Given the description of an element on the screen output the (x, y) to click on. 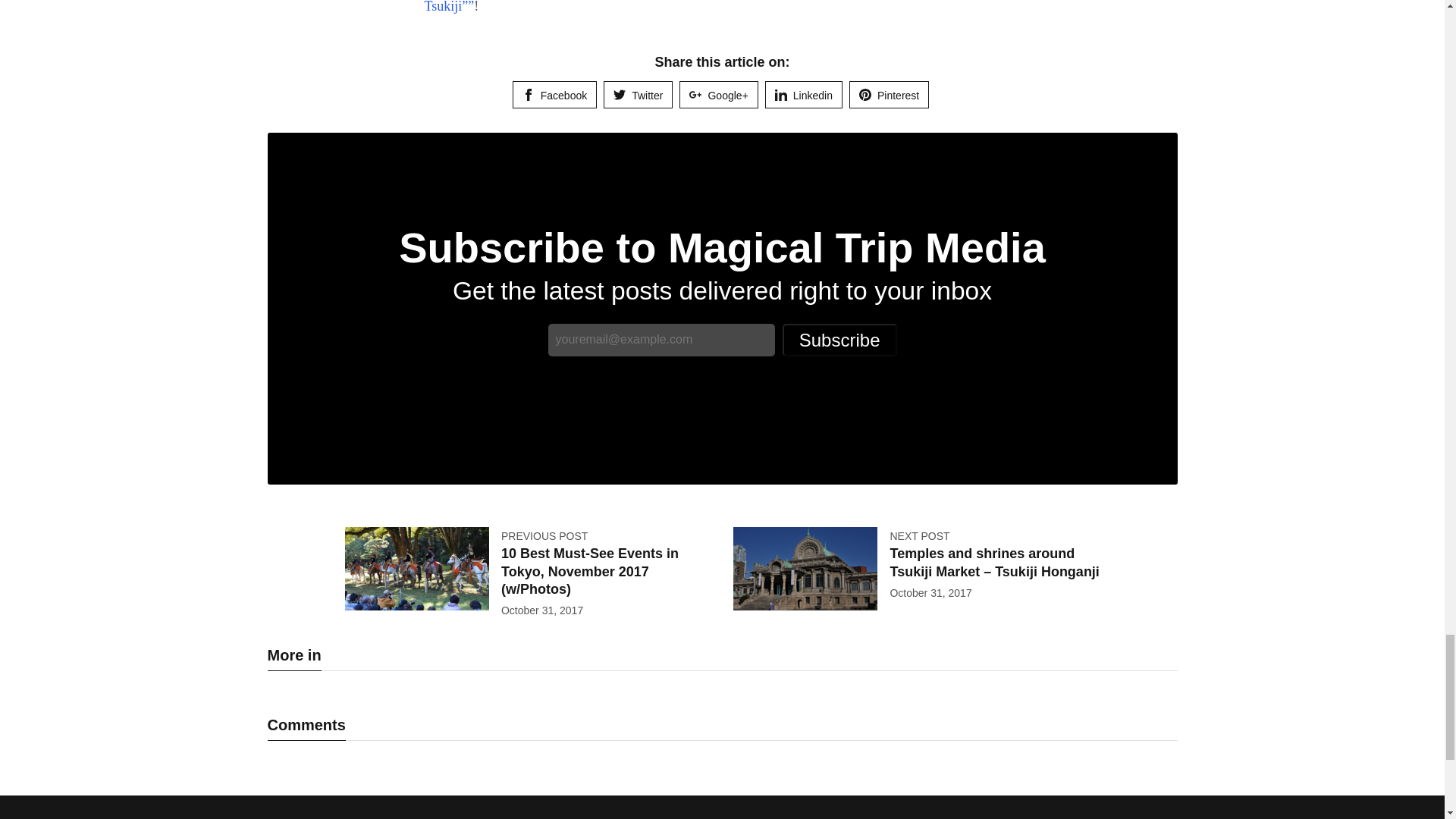
Pinterest (888, 94)
Share on Pinterest (888, 94)
Linkedin (804, 94)
31 October, 2017 (541, 610)
PREVIOUS POST (544, 535)
Share on Twitter (638, 94)
NEXT POST (919, 535)
Subscribe (839, 339)
Facebook (554, 94)
Twitter (638, 94)
